Given the description of an element on the screen output the (x, y) to click on. 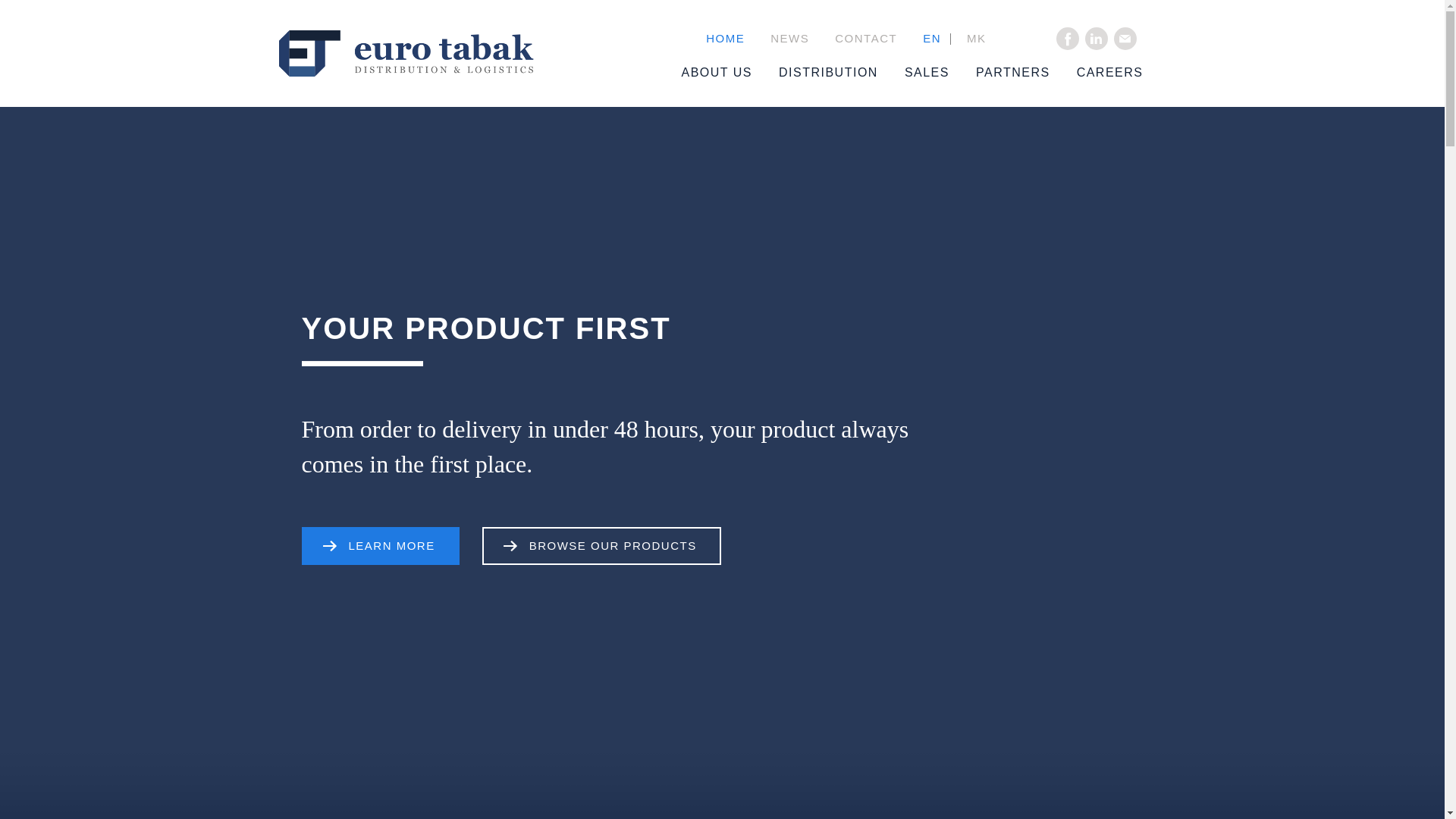
MK (975, 38)
EN (931, 38)
SALES (913, 72)
NEWS (789, 38)
HOME (725, 38)
EN (931, 38)
CONTACT (866, 38)
CAREERS (1095, 72)
ABOUT US (702, 72)
SALES (913, 72)
HOME (725, 38)
PARTNERS (999, 72)
ABOUT US (702, 72)
DISTRIBUTION (814, 72)
NEWS (789, 38)
